Given the description of an element on the screen output the (x, y) to click on. 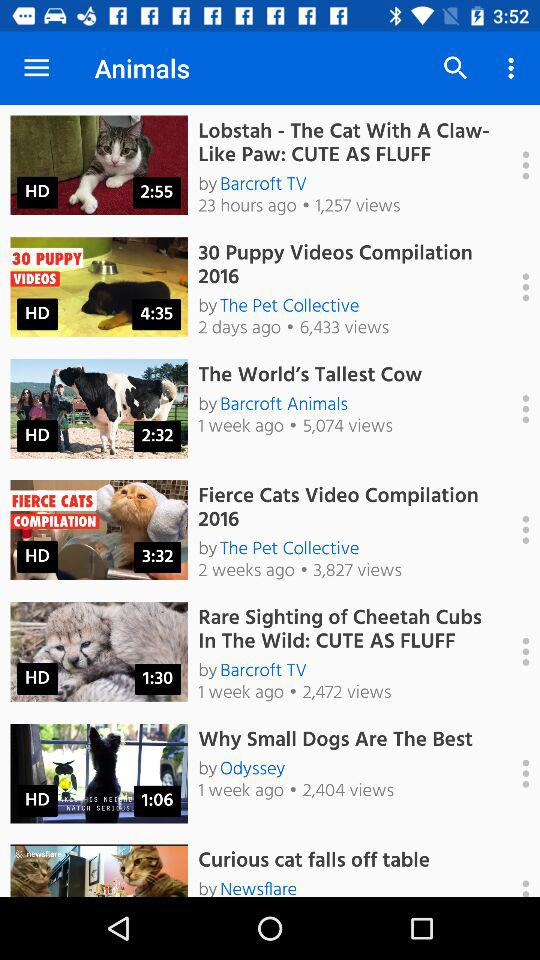
see more options (515, 651)
